Given the description of an element on the screen output the (x, y) to click on. 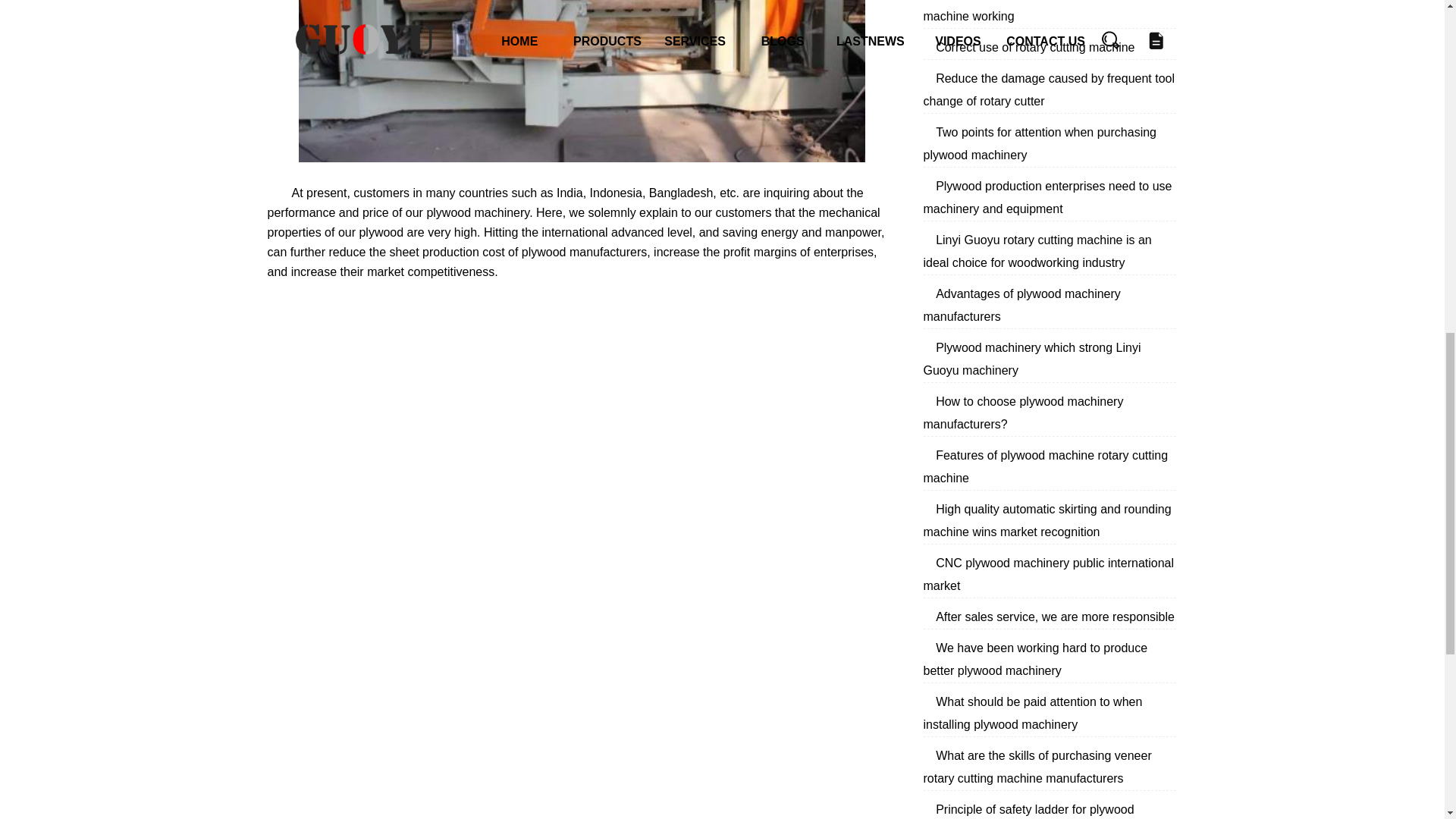
Solutions for problems when veneer peeling machine working (1047, 11)
Plywood machinery which strong Linyi Guoyu machinery (1032, 358)
Correct use of rotary cutting machine (1035, 47)
Features of plywood machine rotary cutting machine (1046, 466)
How to choose plywood machinery manufacturers? (1023, 412)
